Given the description of an element on the screen output the (x, y) to click on. 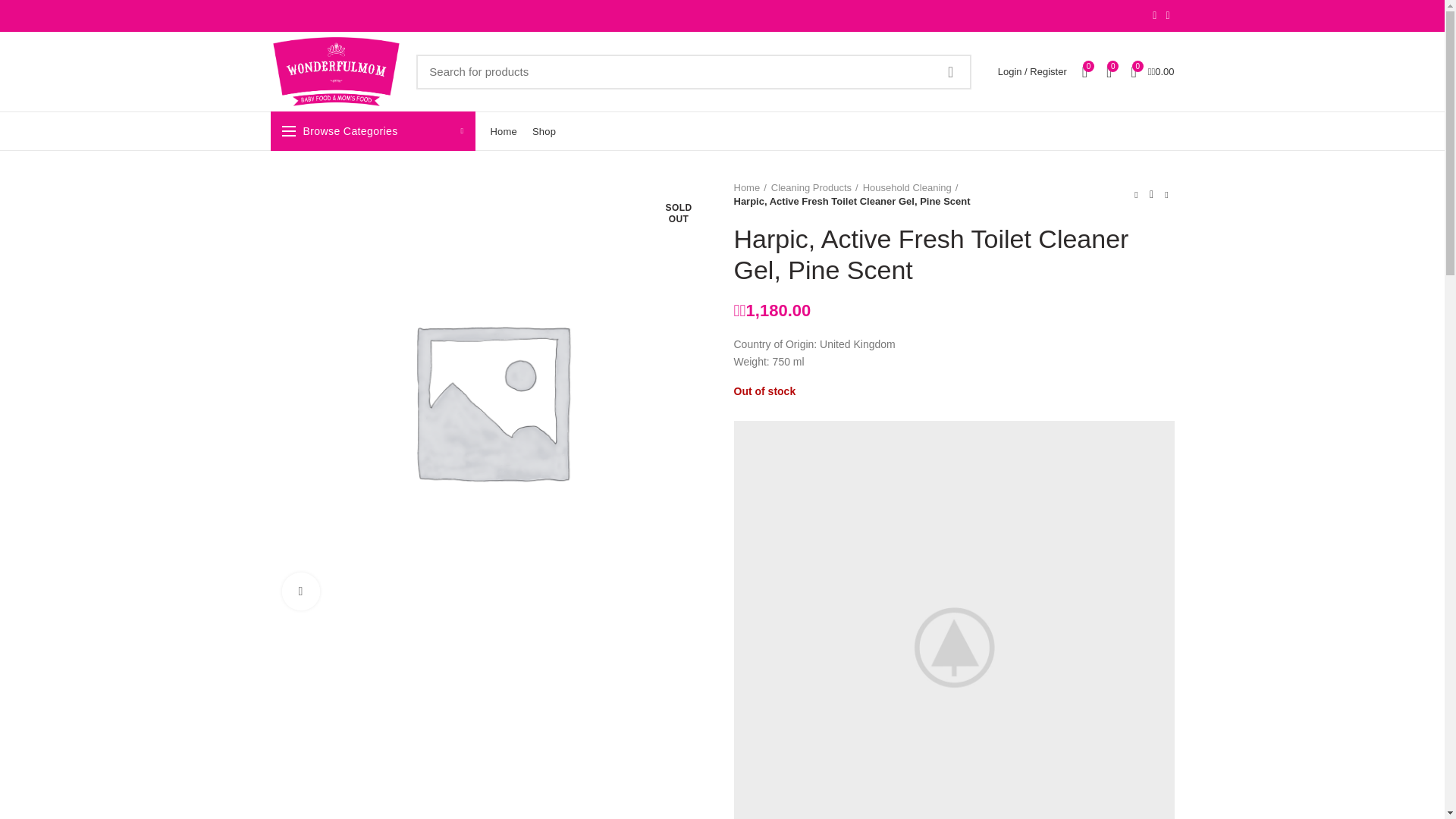
Shopping cart (1151, 71)
SEARCH (950, 71)
My account (1032, 71)
